Given the description of an element on the screen output the (x, y) to click on. 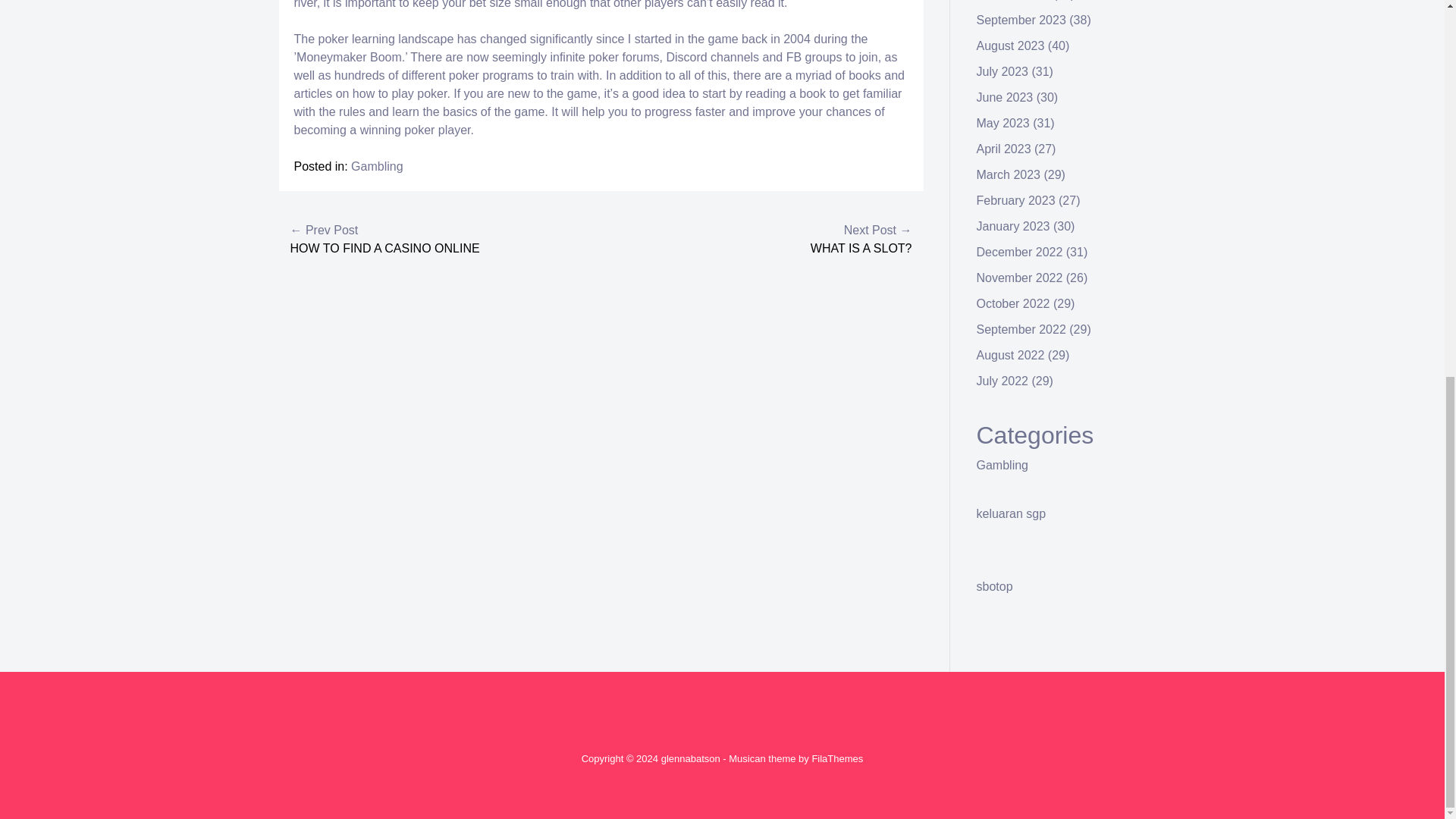
glennabatson (690, 758)
Gambling (376, 165)
January 2023 (1012, 226)
March 2023 (1008, 174)
August 2023 (1010, 45)
Gambling (1001, 464)
August 2022 (1010, 354)
April 2023 (1003, 148)
September 2023 (1020, 19)
July 2022 (1002, 380)
September 2022 (1020, 328)
February 2023 (1015, 200)
December 2022 (1019, 251)
October 2023 (1012, 0)
November 2022 (1019, 277)
